Given the description of an element on the screen output the (x, y) to click on. 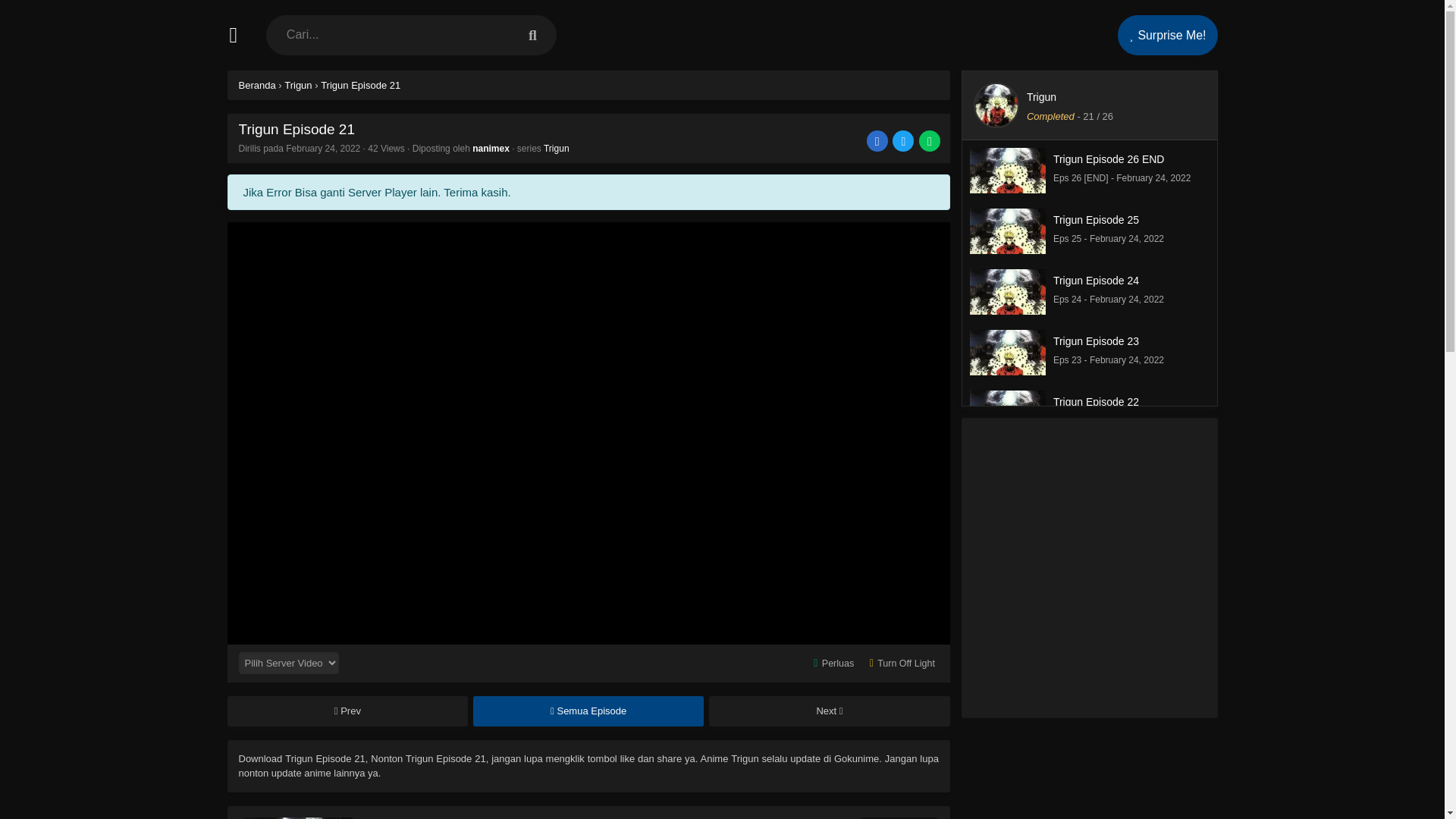
Trigun Episode 25 (1089, 352)
Trigun Episode 21 (1007, 246)
Surprise Me! (360, 84)
Trigun Episode 26 END (1167, 35)
Trigun (1007, 185)
Next (295, 818)
Beranda (829, 711)
Trigun Episode 24 (256, 84)
Trigun (1007, 306)
